Given the description of an element on the screen output the (x, y) to click on. 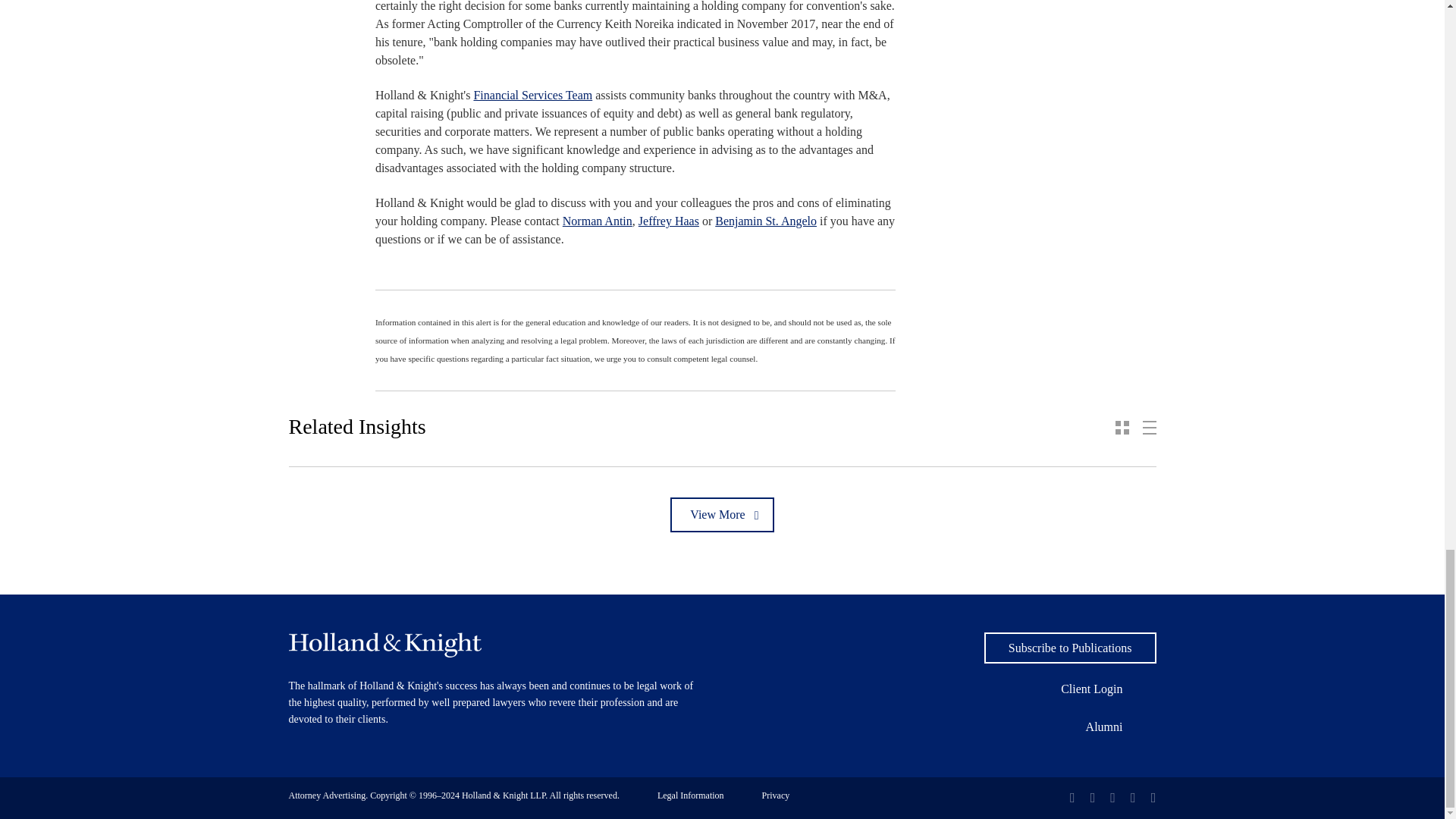
Norman Antin (596, 220)
Financial Services Team (532, 94)
